Given the description of an element on the screen output the (x, y) to click on. 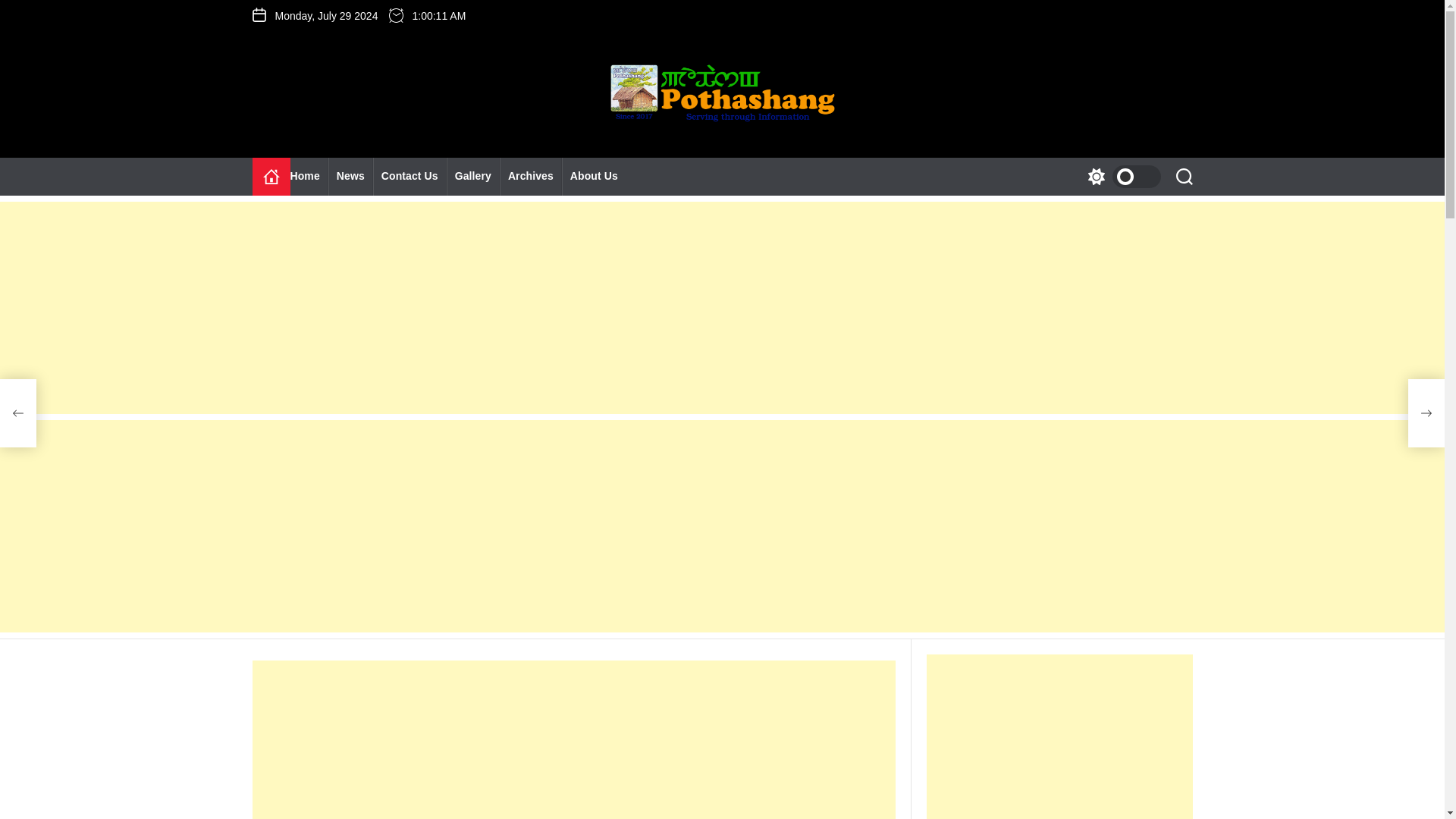
Archives (530, 176)
About Us (594, 176)
Gallery (472, 176)
Advertisement (573, 739)
Contact Us (409, 176)
Switch color mode (1120, 176)
Home (308, 176)
News (350, 176)
